Given the description of an element on the screen output the (x, y) to click on. 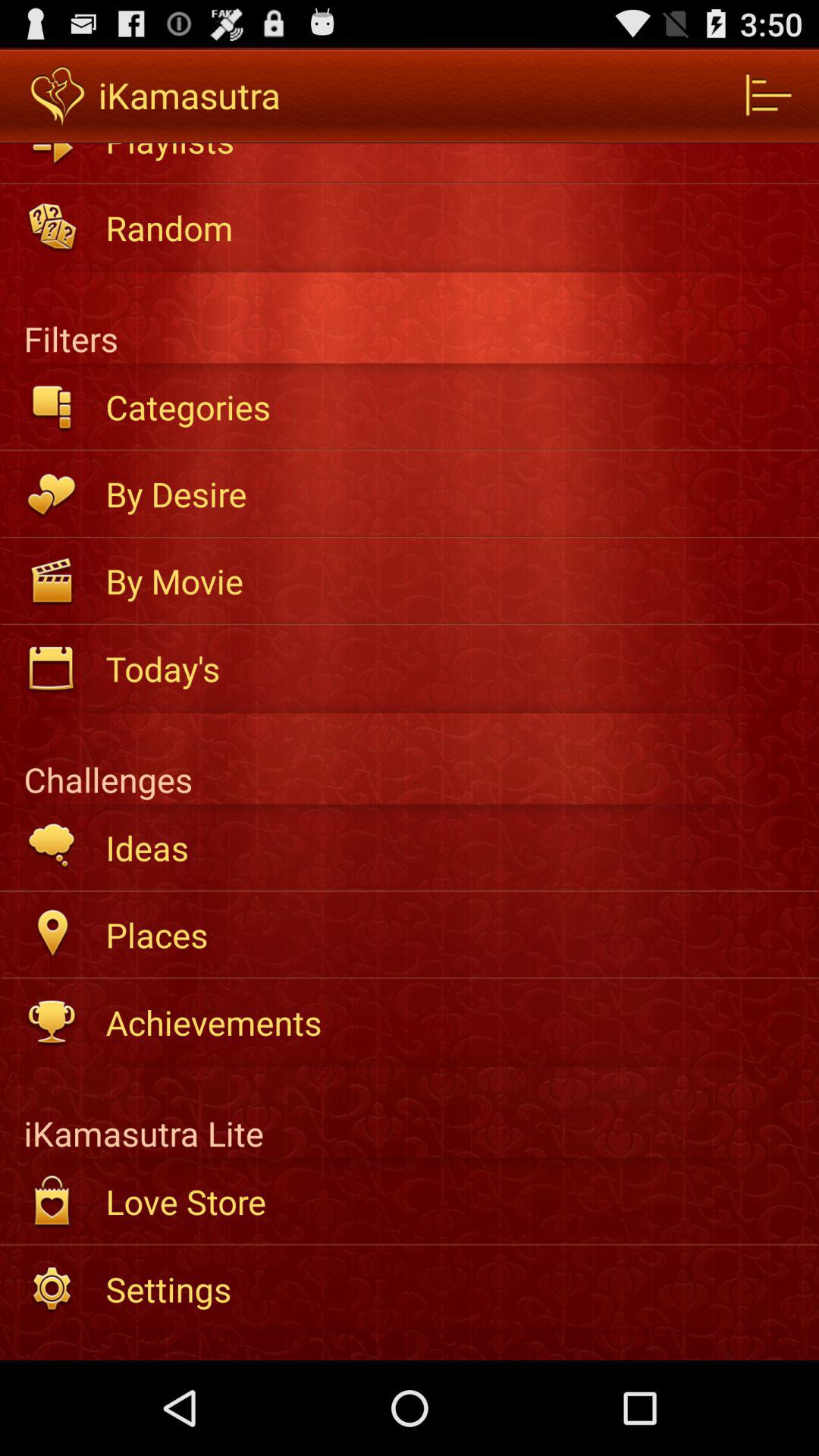
jump until the by desire (452, 493)
